Given the description of an element on the screen output the (x, y) to click on. 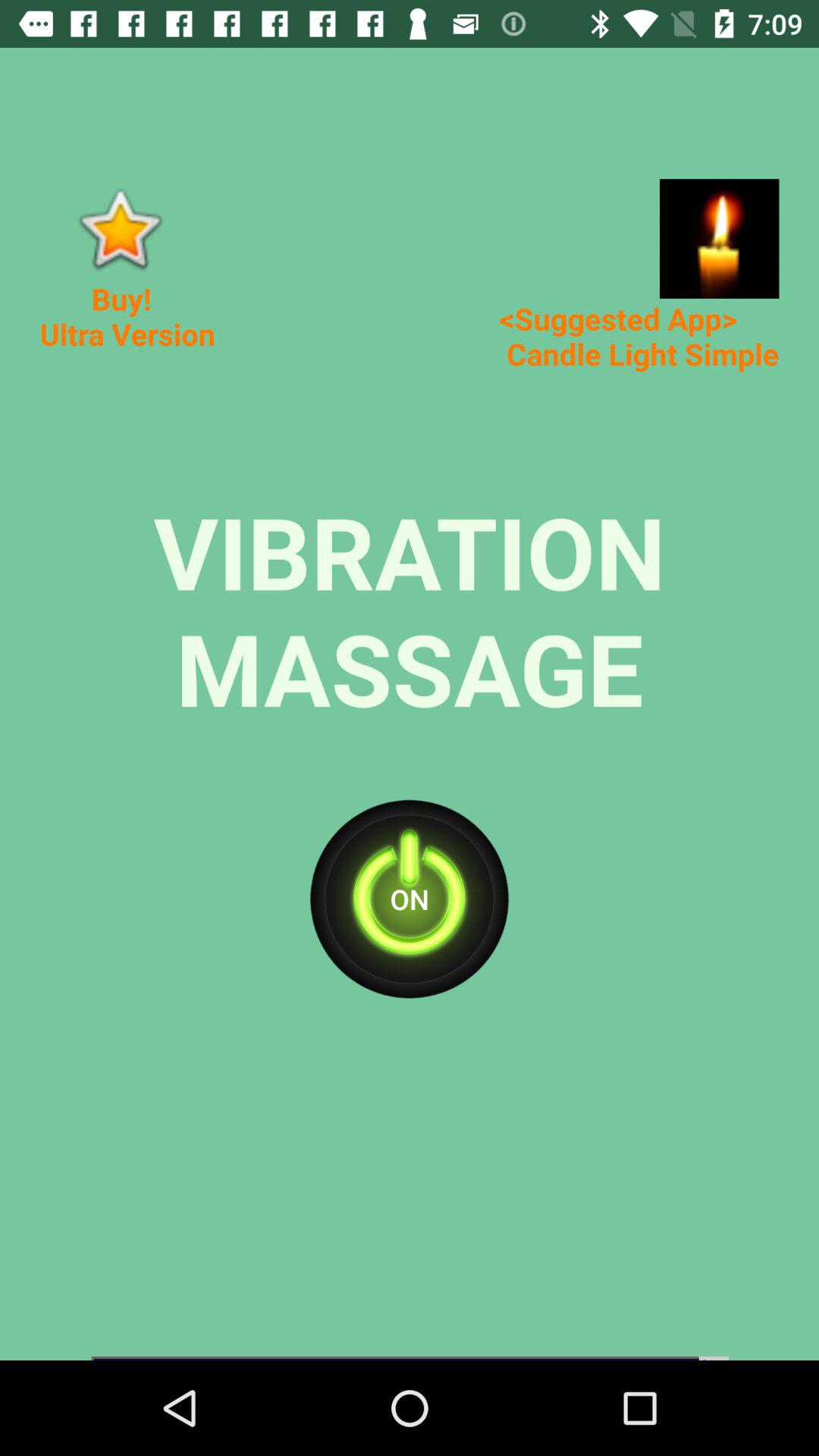
open ultra version page (119, 228)
